Given the description of an element on the screen output the (x, y) to click on. 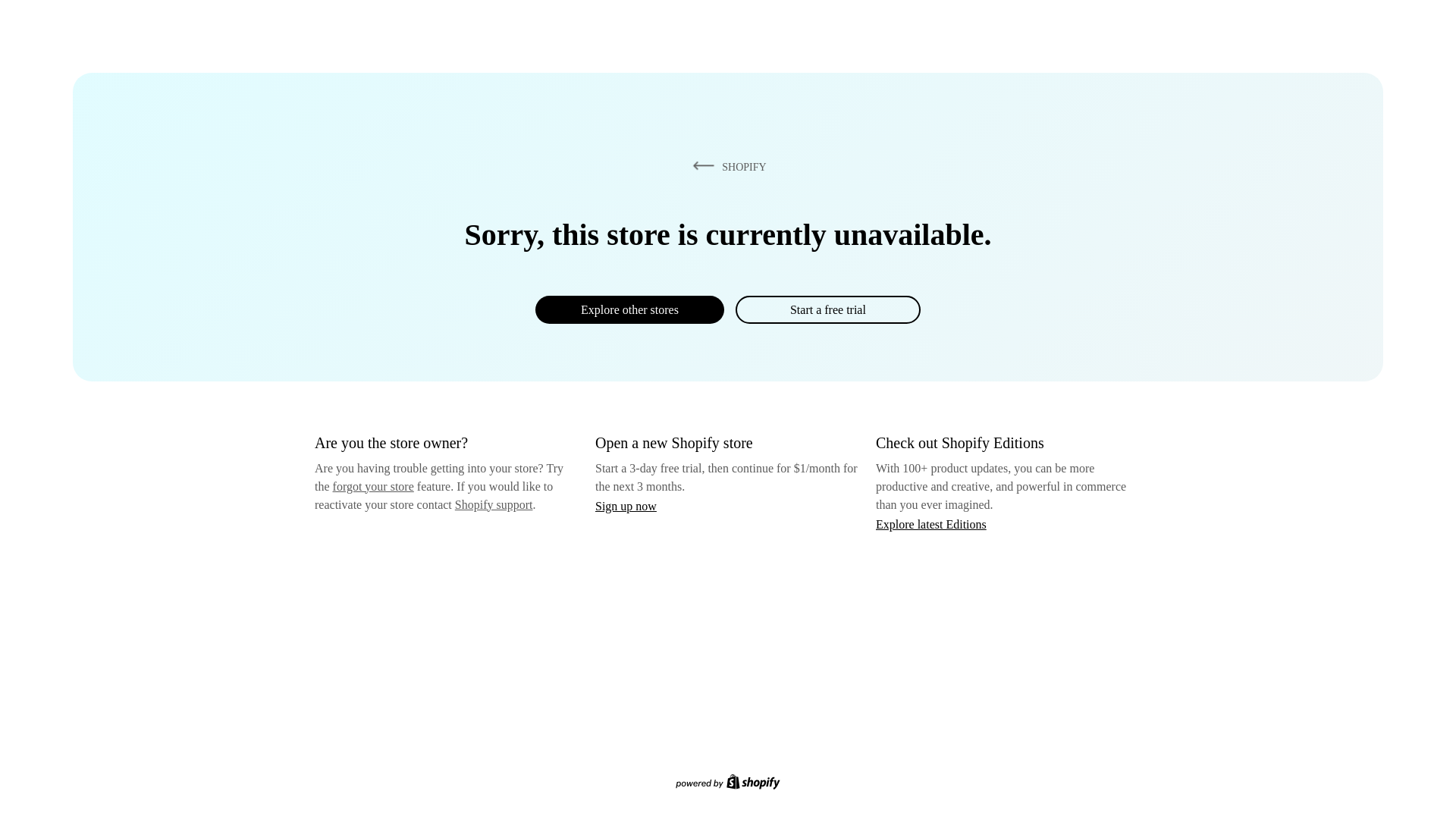
Explore latest Editions (931, 523)
SHOPIFY (726, 166)
Start a free trial (827, 309)
Sign up now (625, 505)
Explore other stores (629, 309)
Shopify support (493, 504)
forgot your store (373, 486)
